Given the description of an element on the screen output the (x, y) to click on. 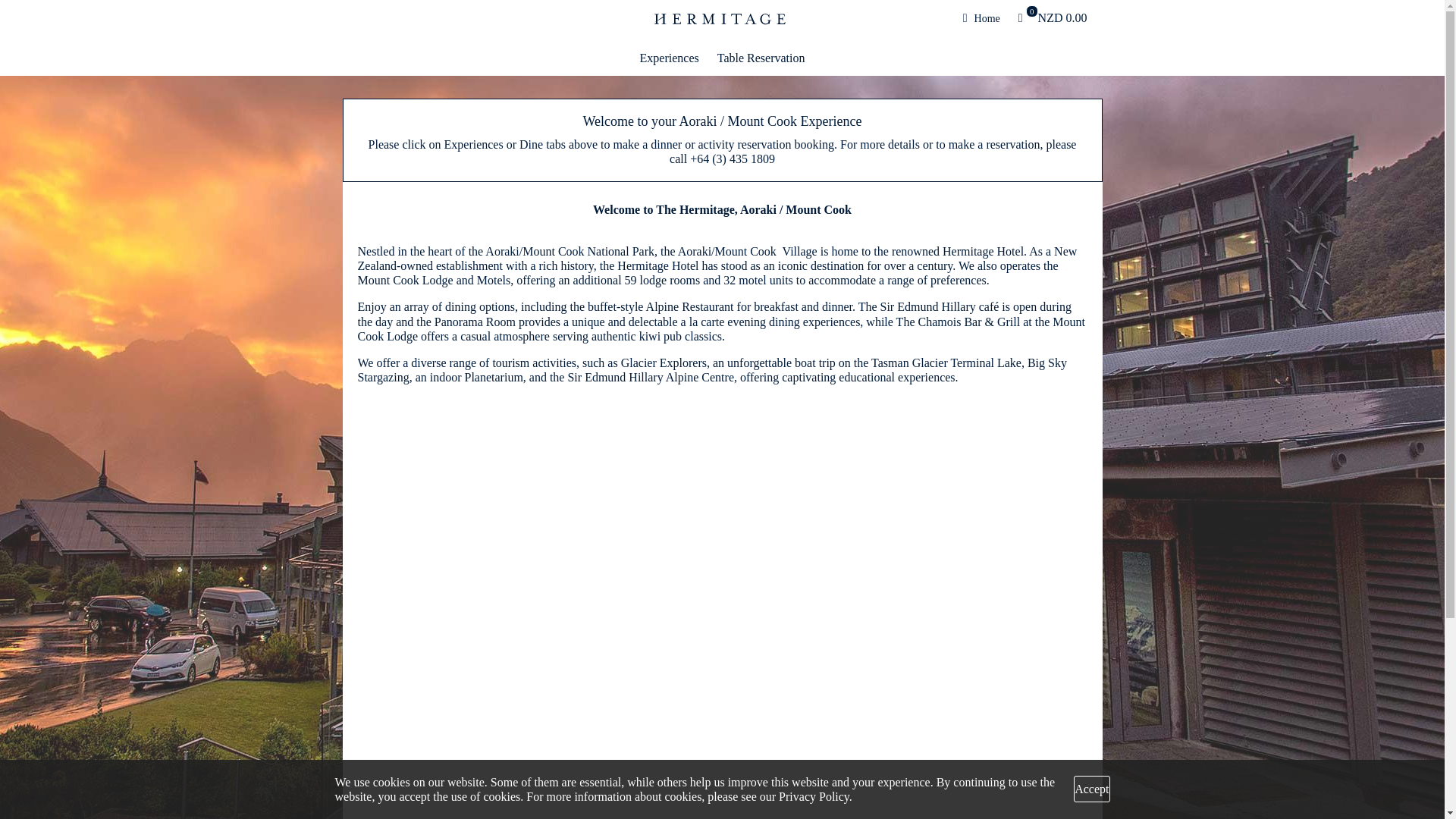
Experiences (669, 58)
Table Reservation (761, 58)
Home (981, 18)
